Given the description of an element on the screen output the (x, y) to click on. 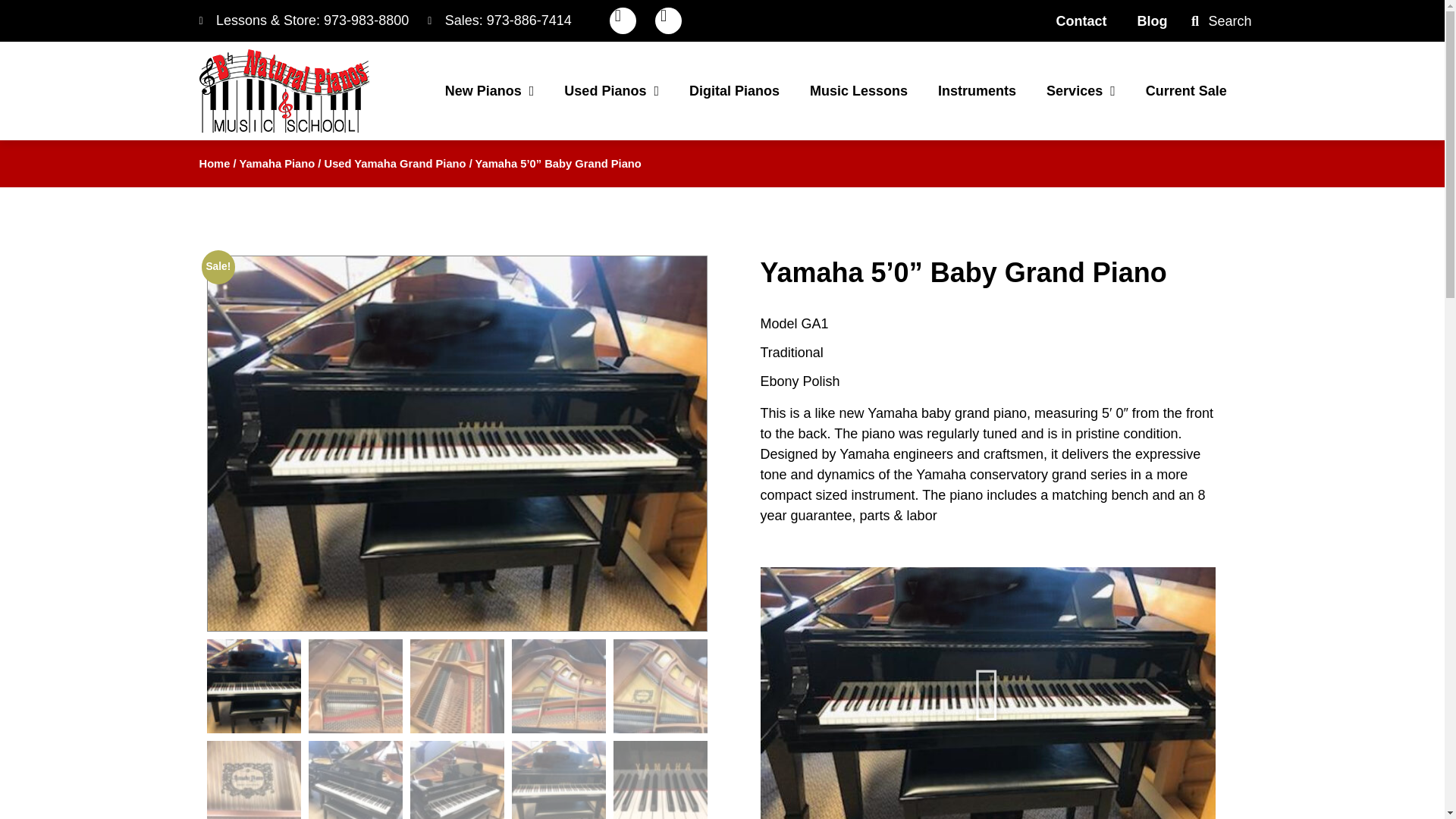
Used Pianos (611, 90)
Blog (1152, 20)
Digital Pianos (734, 90)
Current Sale (1186, 90)
New Pianos (489, 90)
Sales: 973-886-7414 (500, 20)
Services (1080, 90)
Instruments (976, 90)
Contact (1081, 20)
Music Lessons (858, 90)
